Given the description of an element on the screen output the (x, y) to click on. 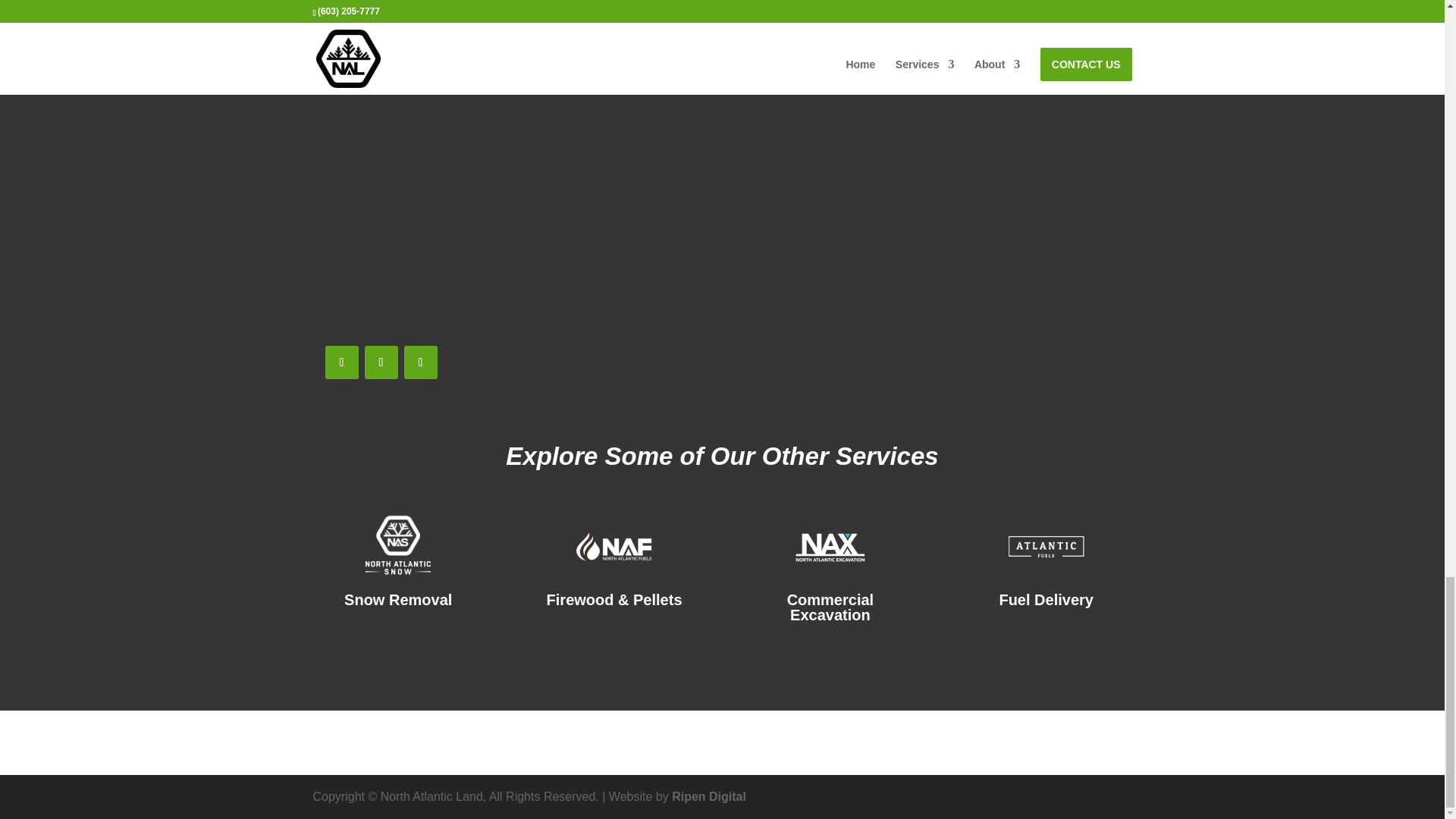
Follow on Facebook (341, 362)
Follow on Instagram (419, 362)
NAS little white logo (397, 546)
Follow on X (380, 362)
